Given the description of an element on the screen output the (x, y) to click on. 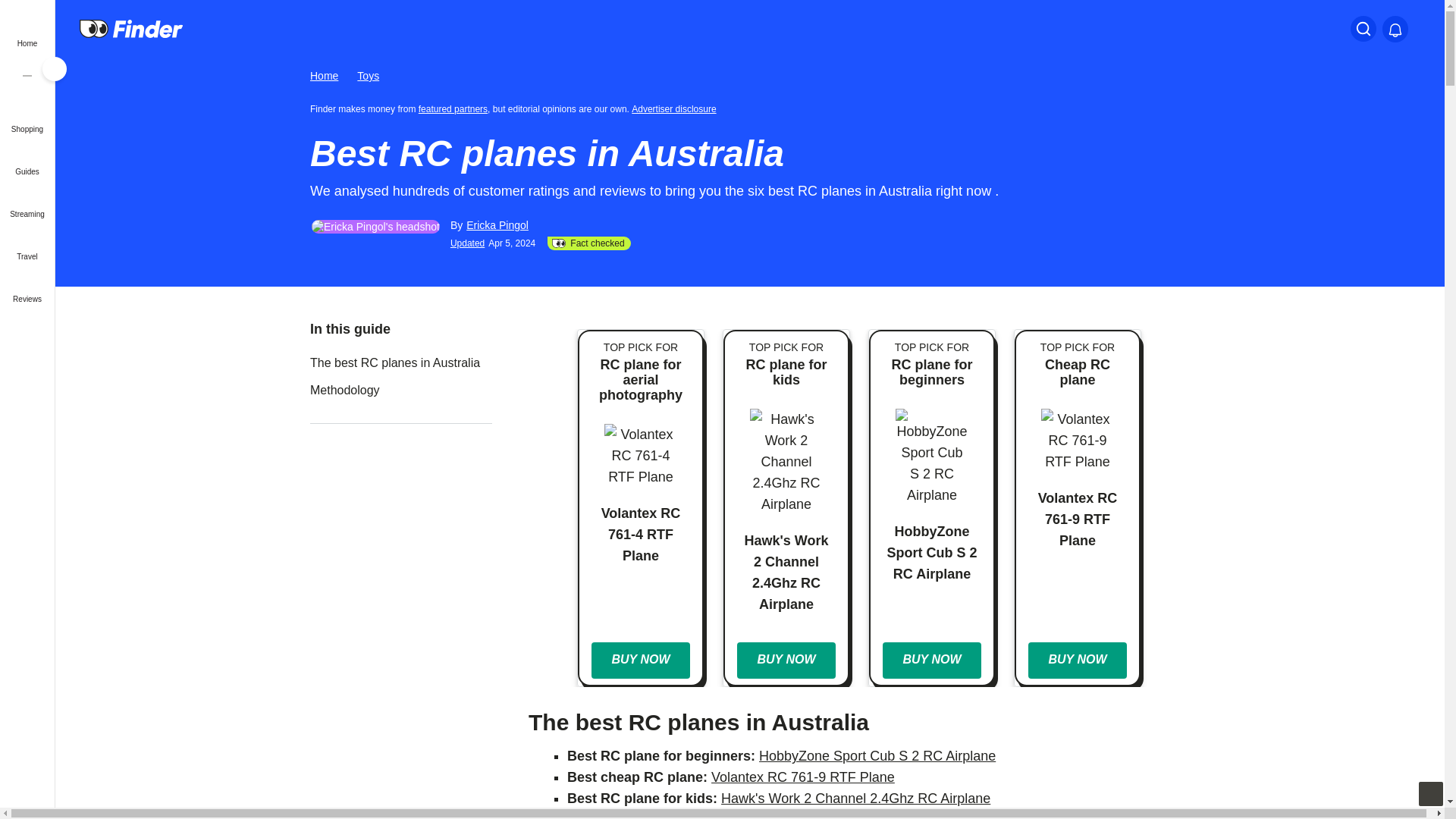
Home (323, 75)
featured partners (453, 108)
Important information about this website (676, 108)
HobbyZone Sport Cub S 2 RC Airplane (876, 755)
Top Race TR-C385 Remote Control Airplane (864, 815)
Advertiser disclosure (676, 108)
Hawk's Work 2 Channel 2.4Ghz RC Airplane (855, 798)
Toys (367, 75)
Back to Top (1430, 793)
Volantex RC 761-9 RTF Plane (803, 776)
